Given the description of an element on the screen output the (x, y) to click on. 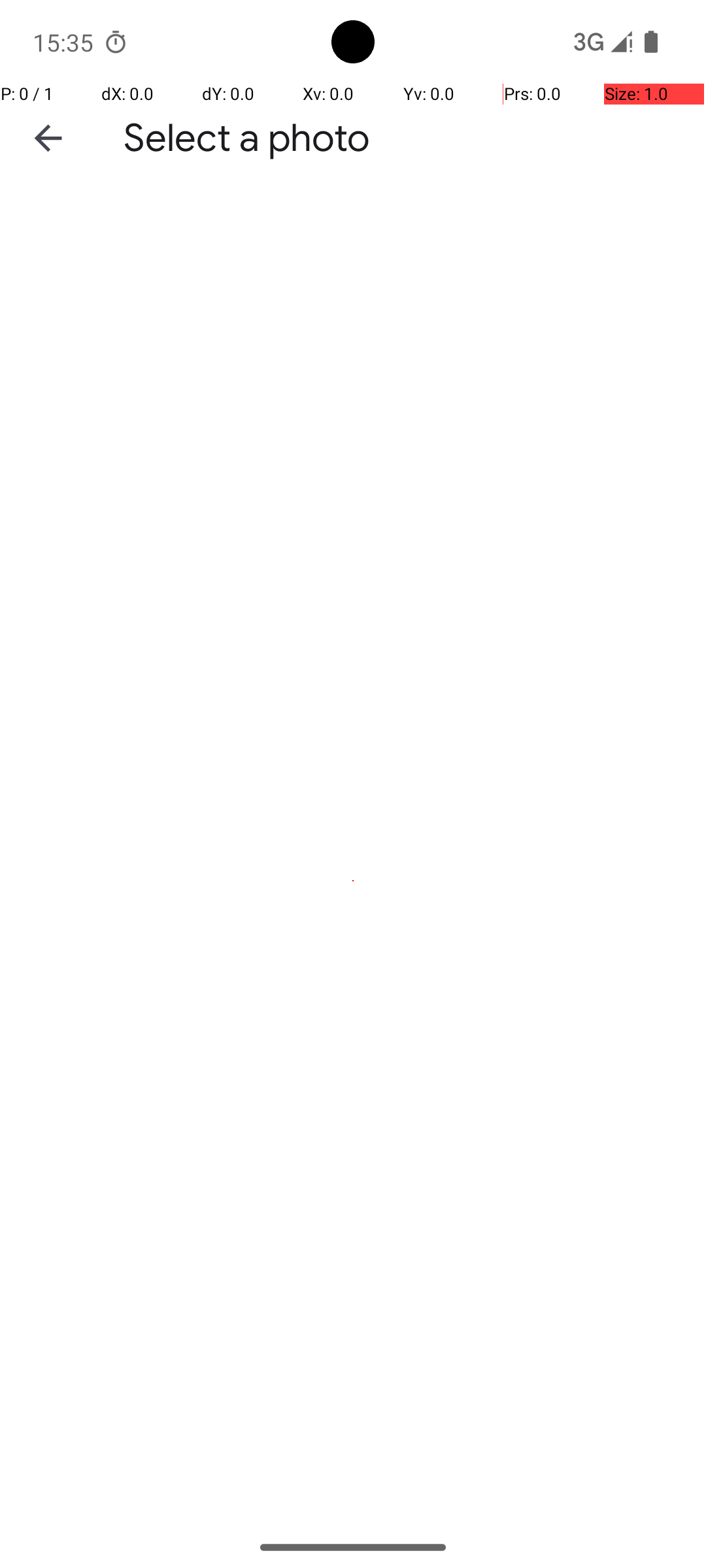
Select a photo Element type: android.widget.TextView (246, 138)
